Given the description of an element on the screen output the (x, y) to click on. 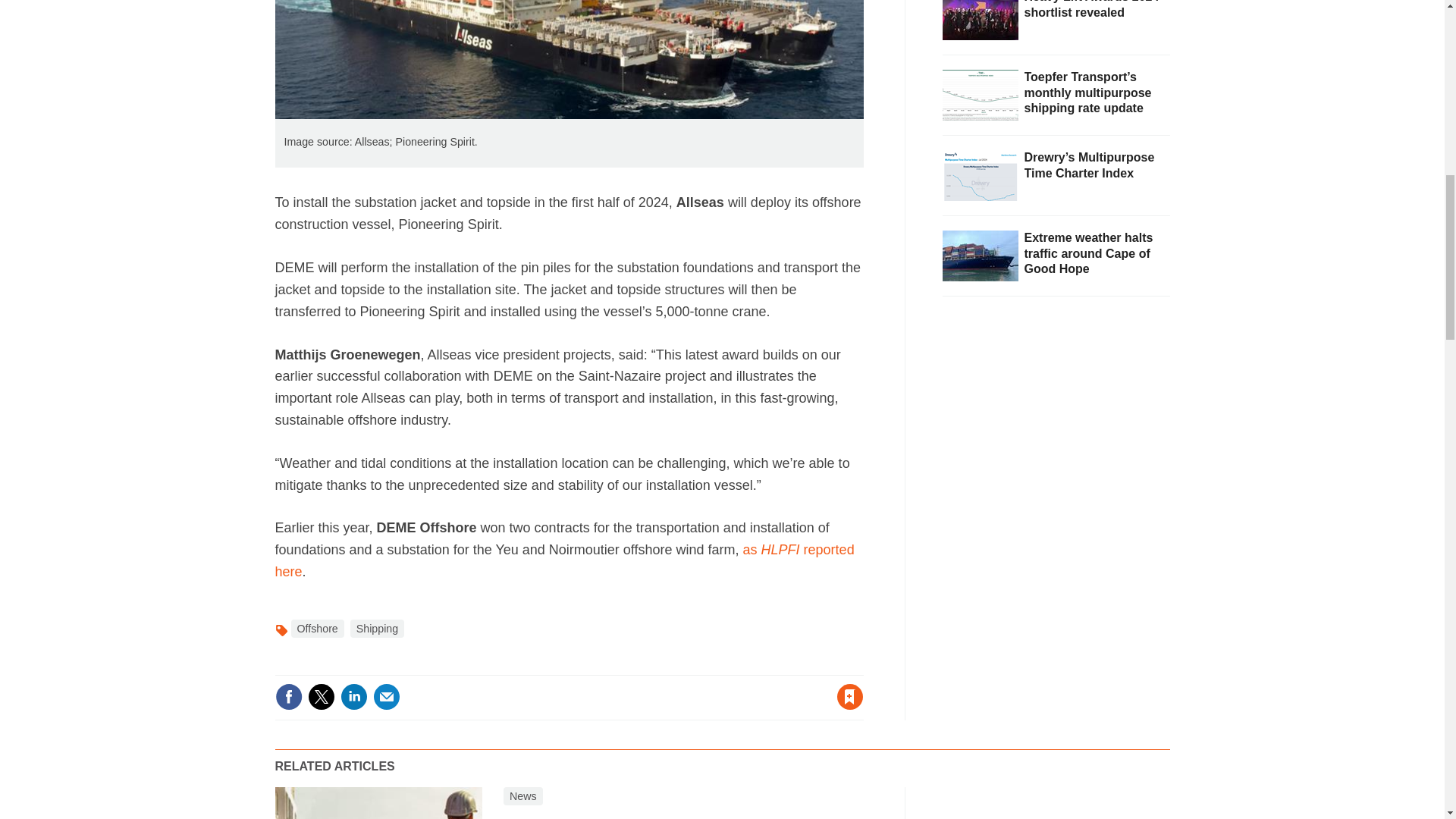
Share this on Twitter (320, 696)
Email this article (386, 696)
Share this on Facebook (288, 696)
Share this on Linked in (352, 696)
